Given the description of an element on the screen output the (x, y) to click on. 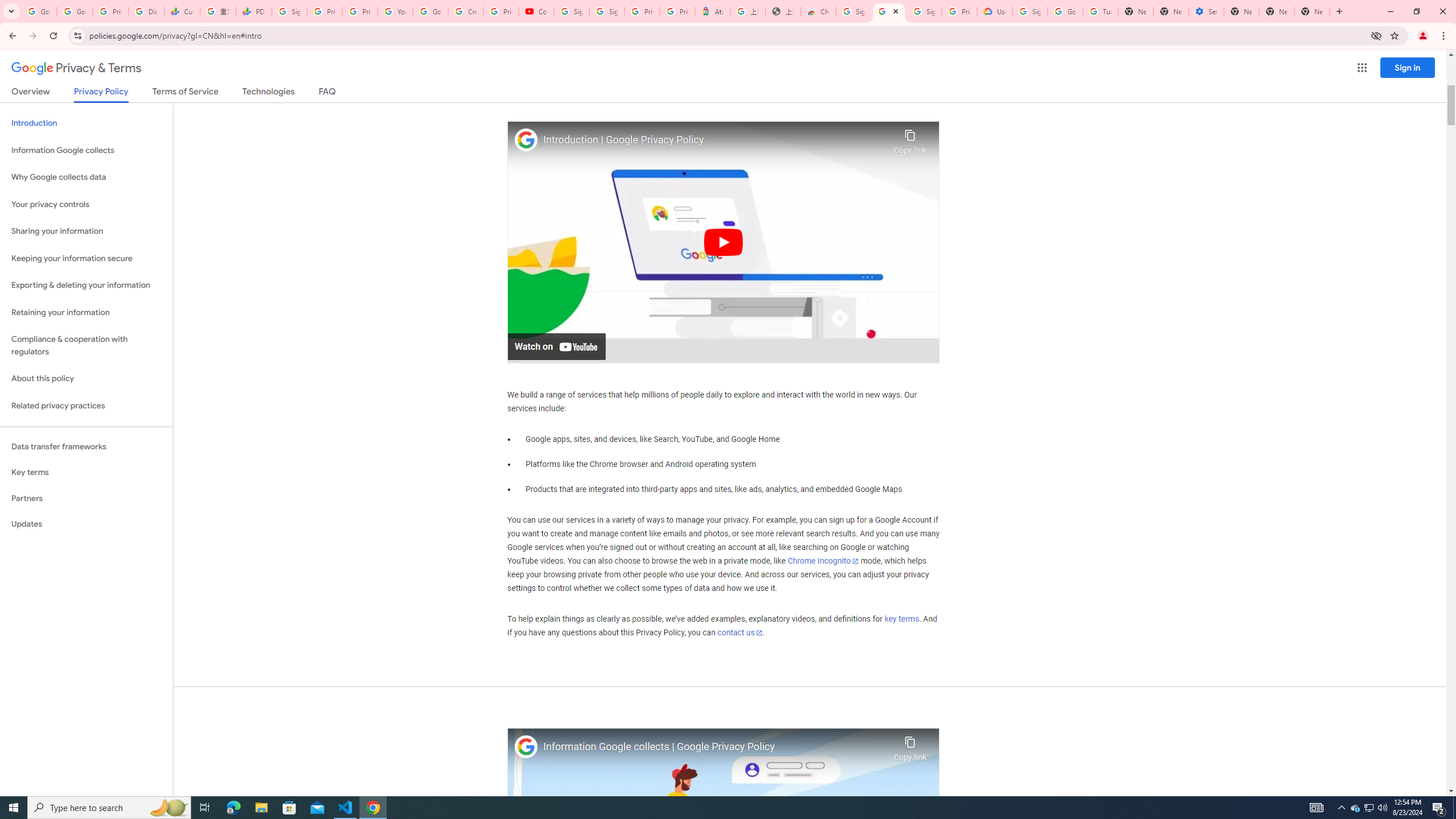
New Tab (1312, 11)
Why Google collects data (86, 176)
Introduction (86, 122)
Overview (30, 93)
Keeping your information secure (86, 258)
